Given the description of an element on the screen output the (x, y) to click on. 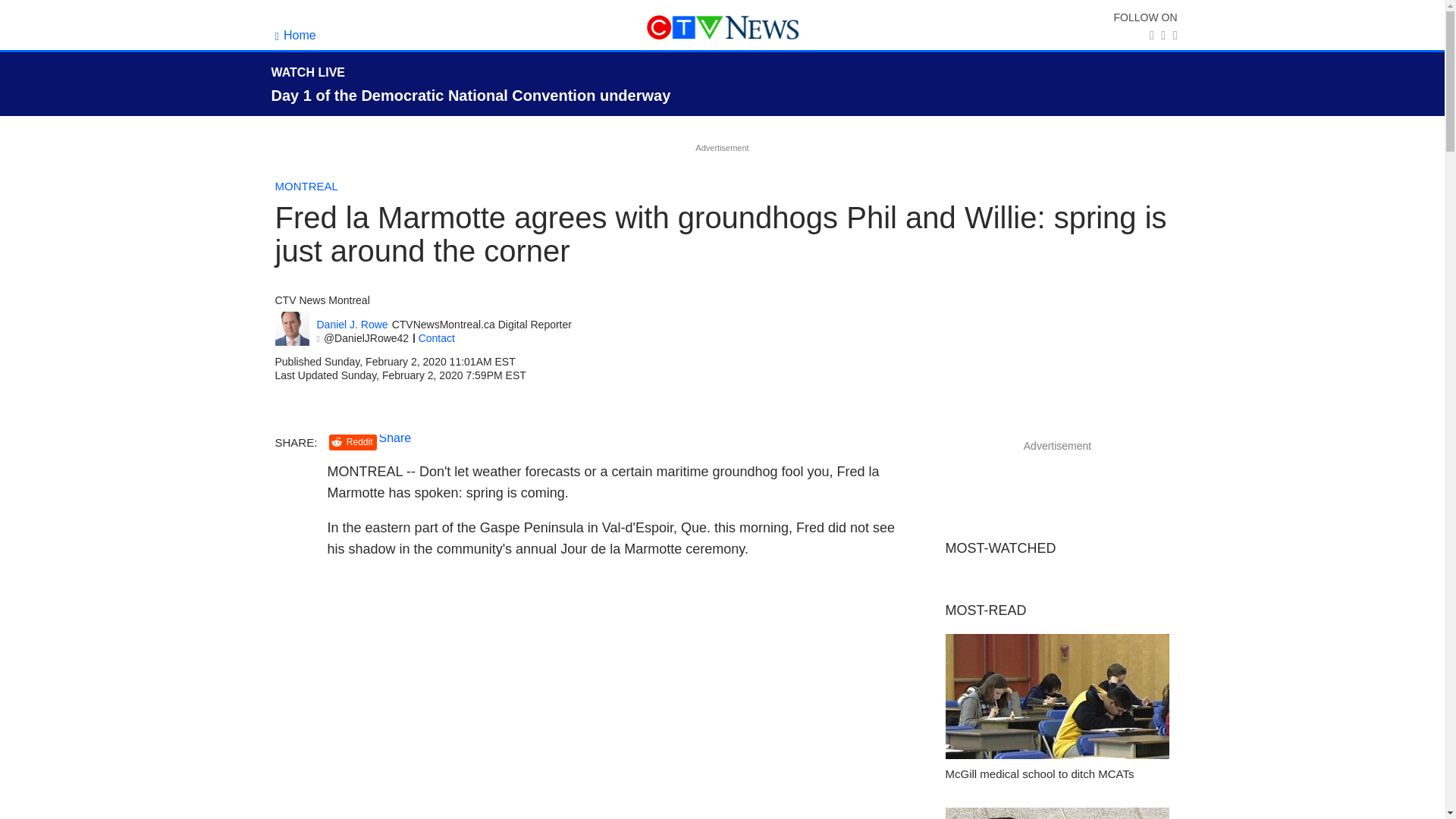
Contact (436, 337)
Reddit (353, 442)
Daniel J. Rowe (352, 324)
Day 1 of the Democratic National Convention underway (470, 95)
MONTREAL (306, 185)
Home (295, 34)
Share (395, 437)
